Given the description of an element on the screen output the (x, y) to click on. 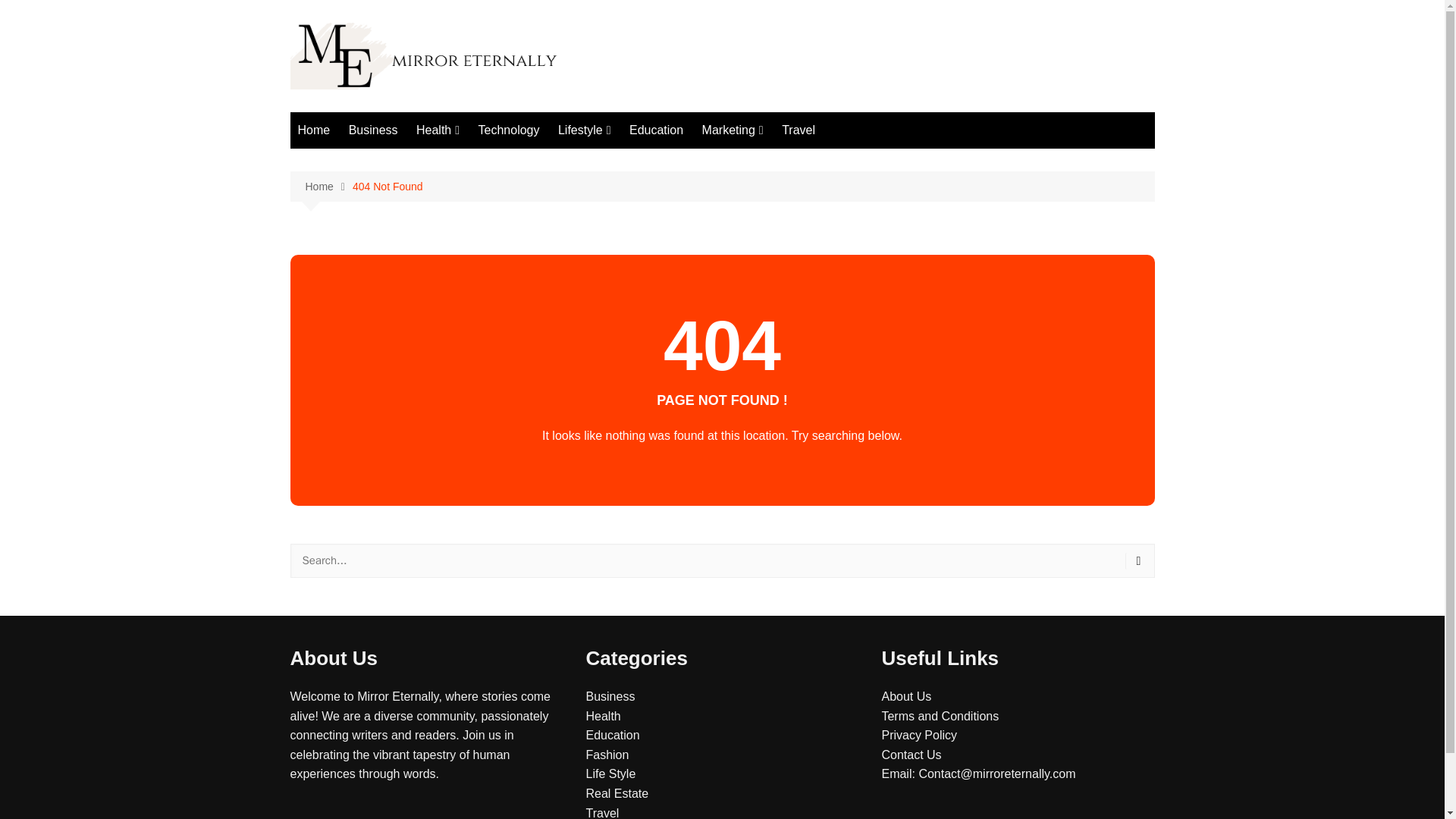
Education (655, 130)
Education (612, 735)
Travel (798, 130)
Marketing (732, 130)
Home (313, 130)
Privacy Policy (918, 735)
Terms and Conditions (939, 716)
Food (492, 160)
Technology (508, 130)
About Us (905, 696)
